Given the description of an element on the screen output the (x, y) to click on. 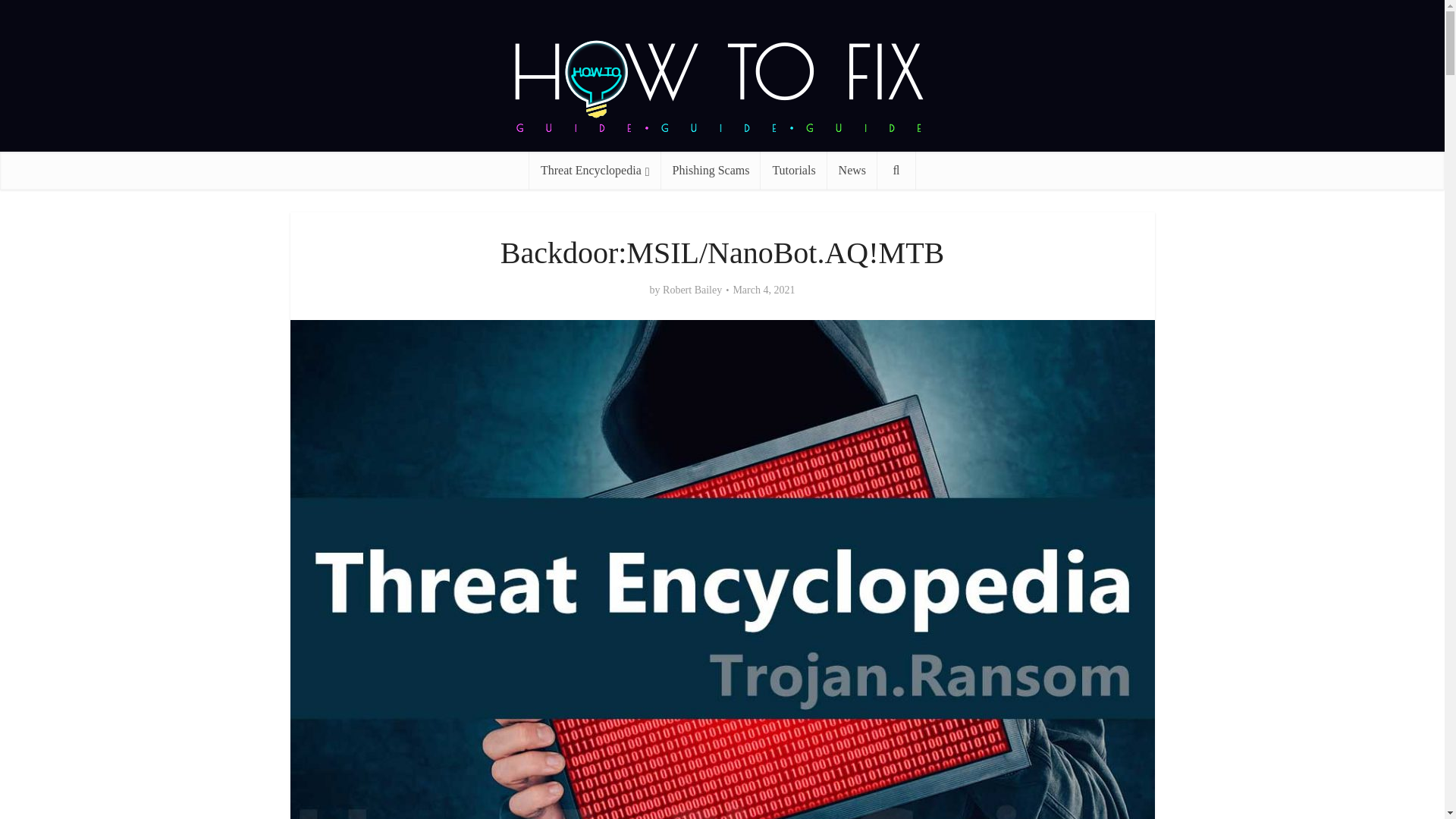
Robert Bailey (692, 290)
News (852, 170)
Tutorials (793, 170)
Threat Encyclopedia (595, 170)
Phishing Scams (711, 170)
